Given the description of an element on the screen output the (x, y) to click on. 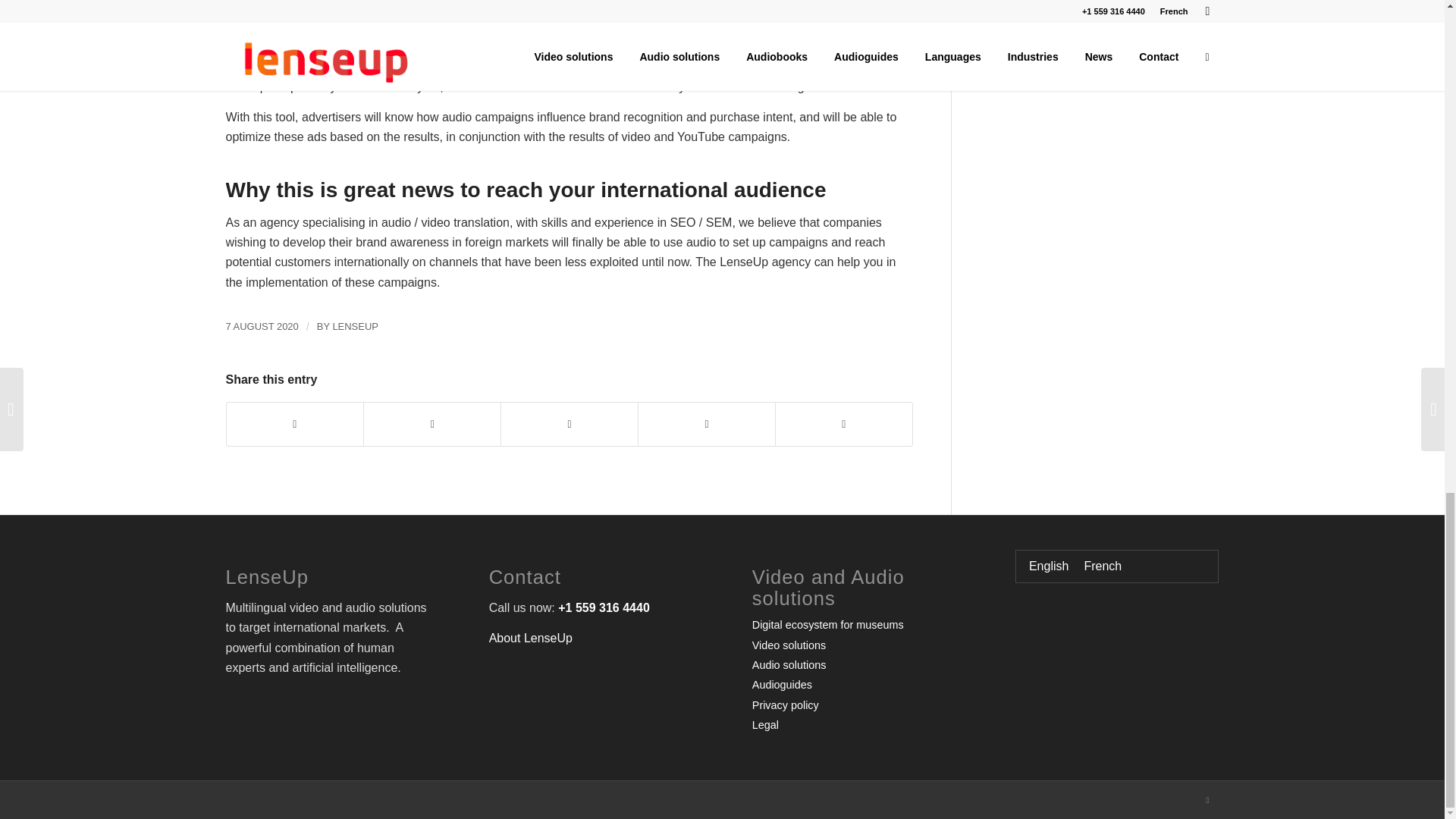
Posts by LenseUp (354, 326)
